Given the description of an element on the screen output the (x, y) to click on. 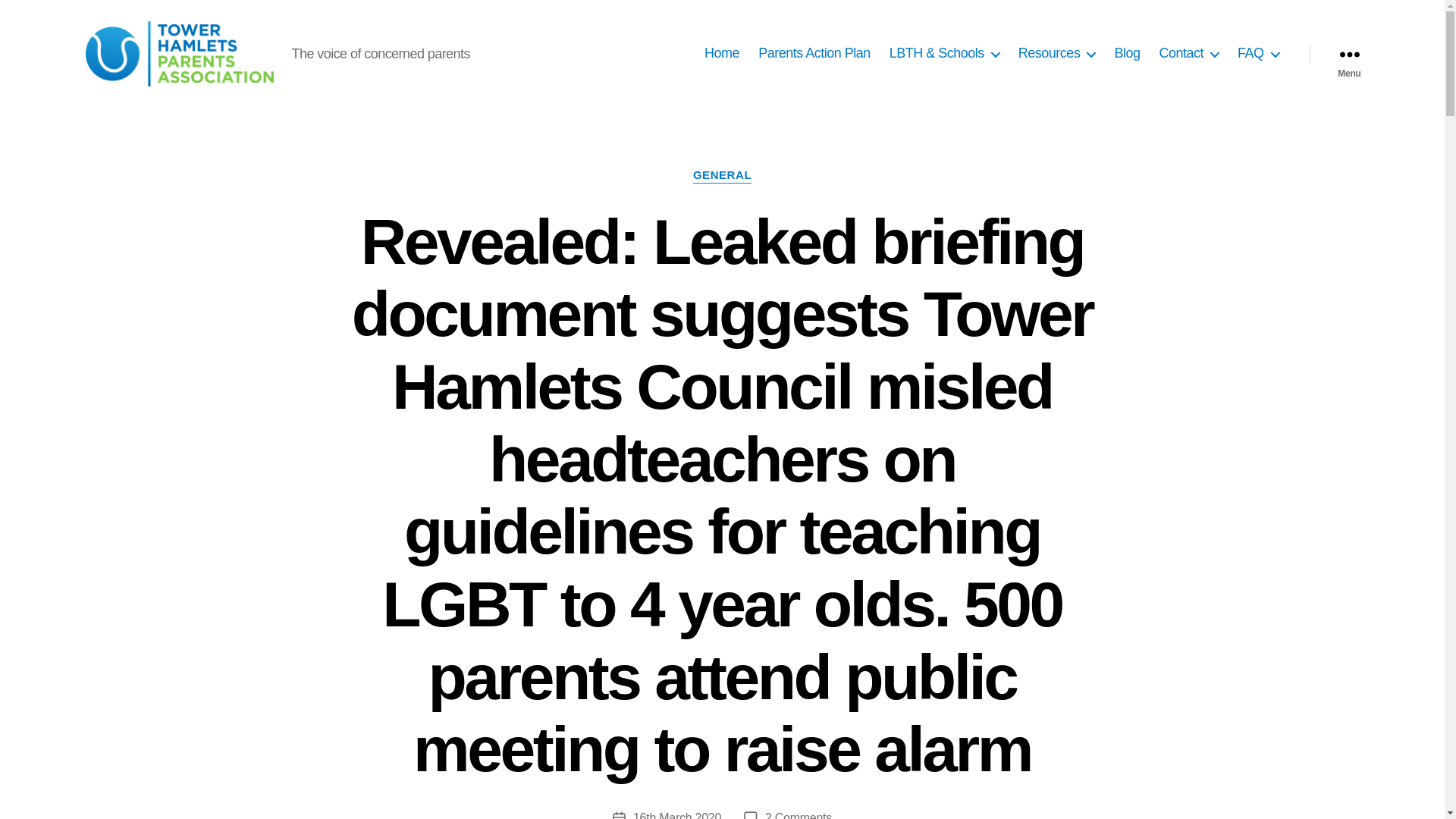
FAQ (1258, 53)
Blog (1126, 53)
Contact (1188, 53)
Parents Action Plan (814, 53)
Home (721, 53)
Menu (1348, 53)
Resources (1056, 53)
